Given the description of an element on the screen output the (x, y) to click on. 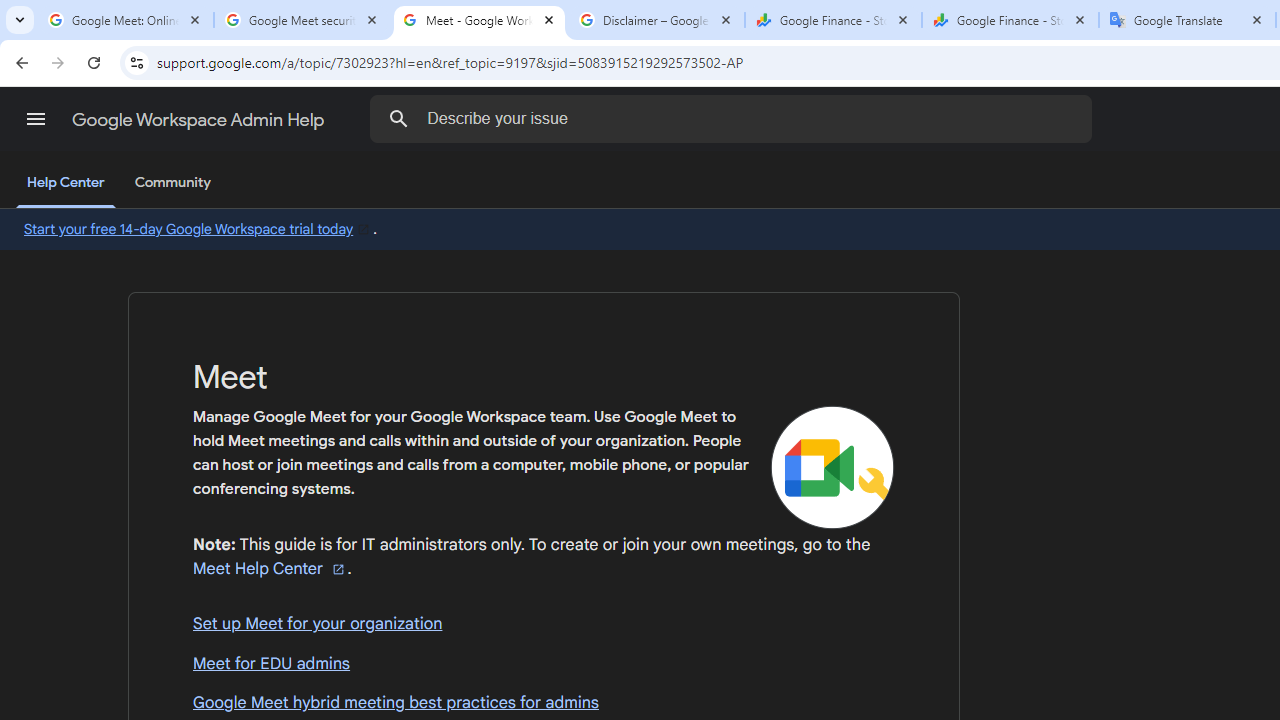
Google Meet hybrid meeting best practices for admins (543, 703)
Meet for EDU admins (543, 664)
Meet Help Center  (270, 568)
Meet - Google Workspace Admin Help (479, 20)
